Given the description of an element on the screen output the (x, y) to click on. 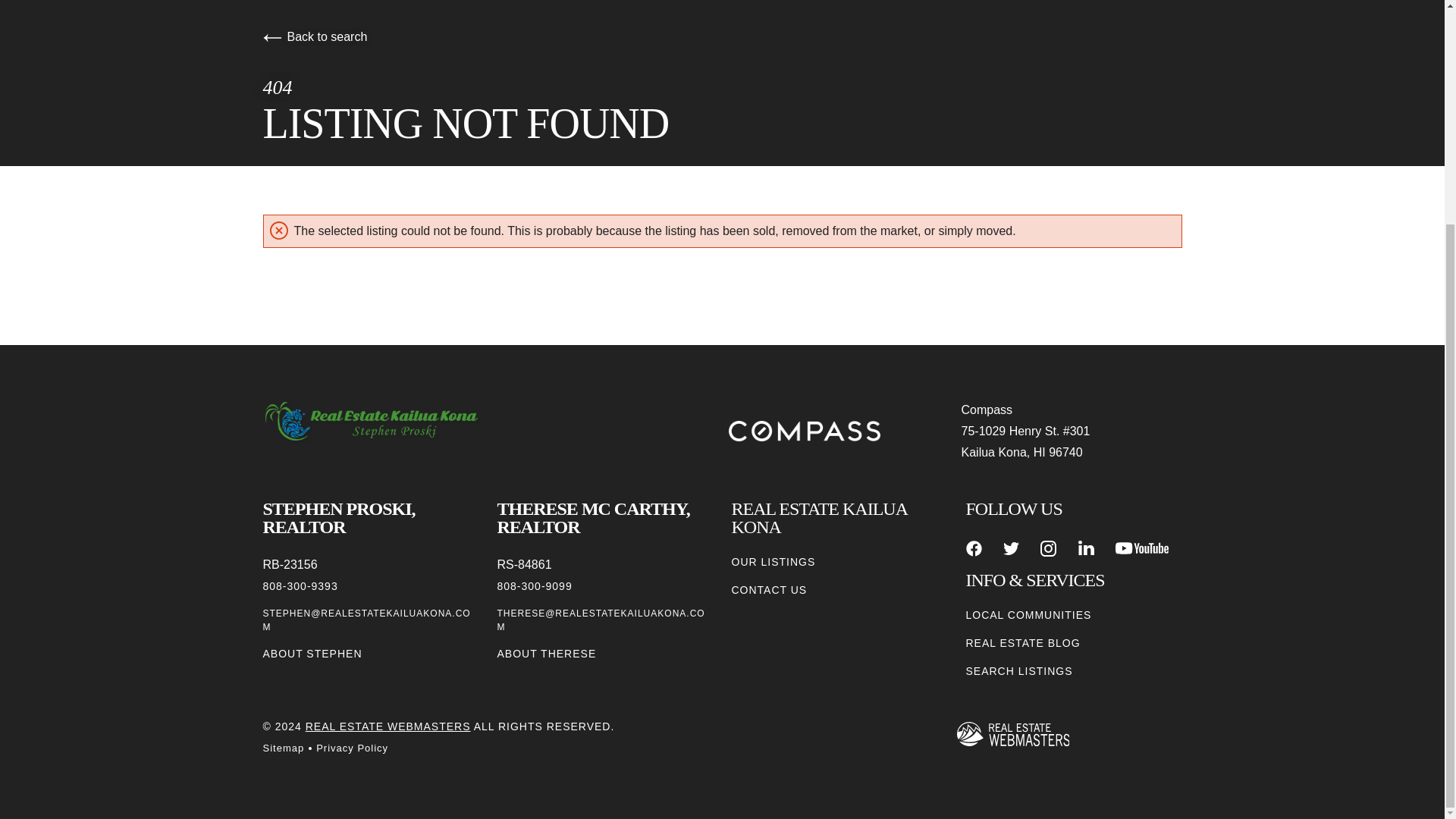
YOUTUBE (1142, 547)
TWITTER (1011, 548)
FACEBOOK (973, 548)
LINKEDIN (1086, 548)
